Given the description of an element on the screen output the (x, y) to click on. 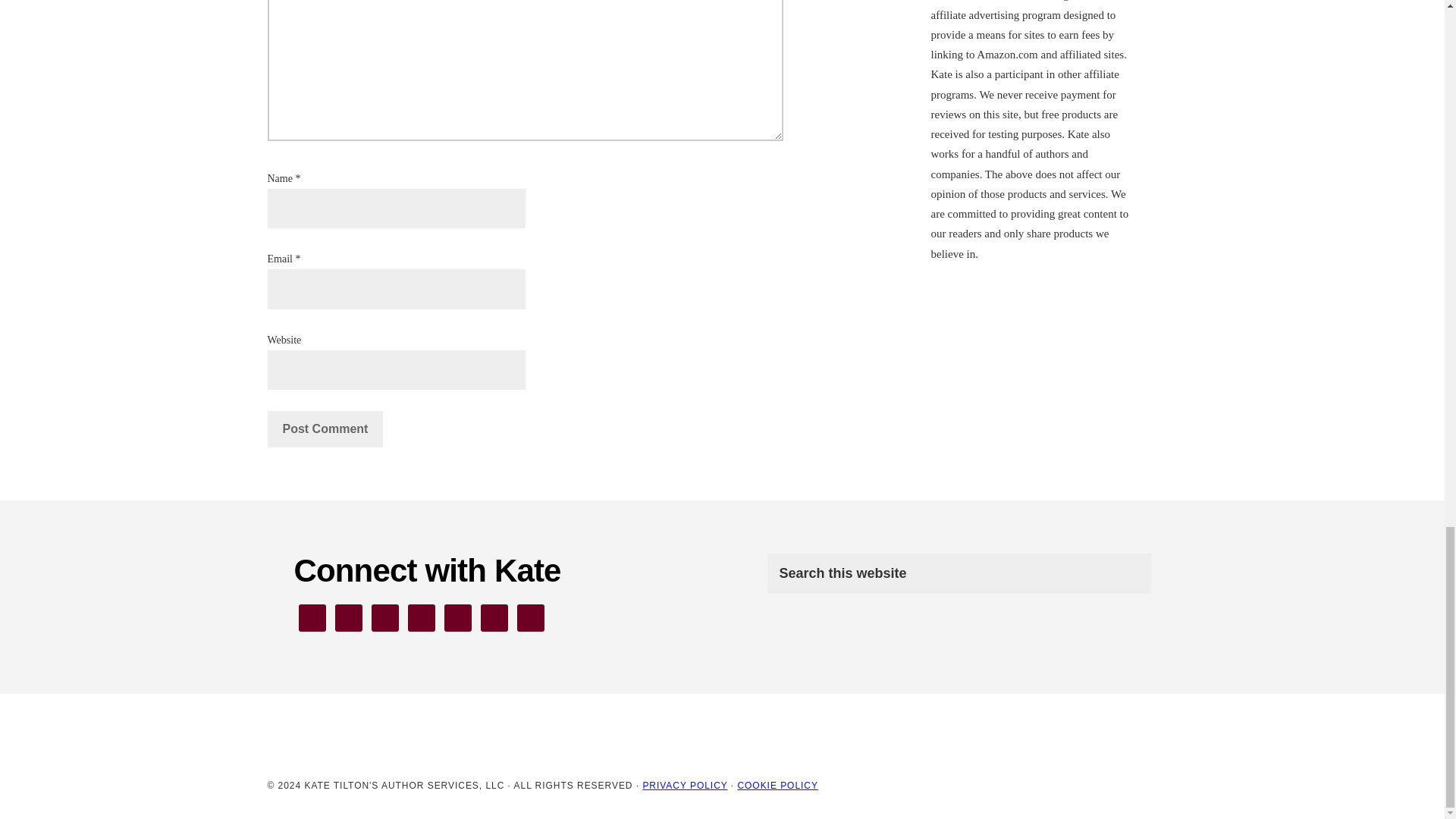
Post Comment (324, 429)
